Given the description of an element on the screen output the (x, y) to click on. 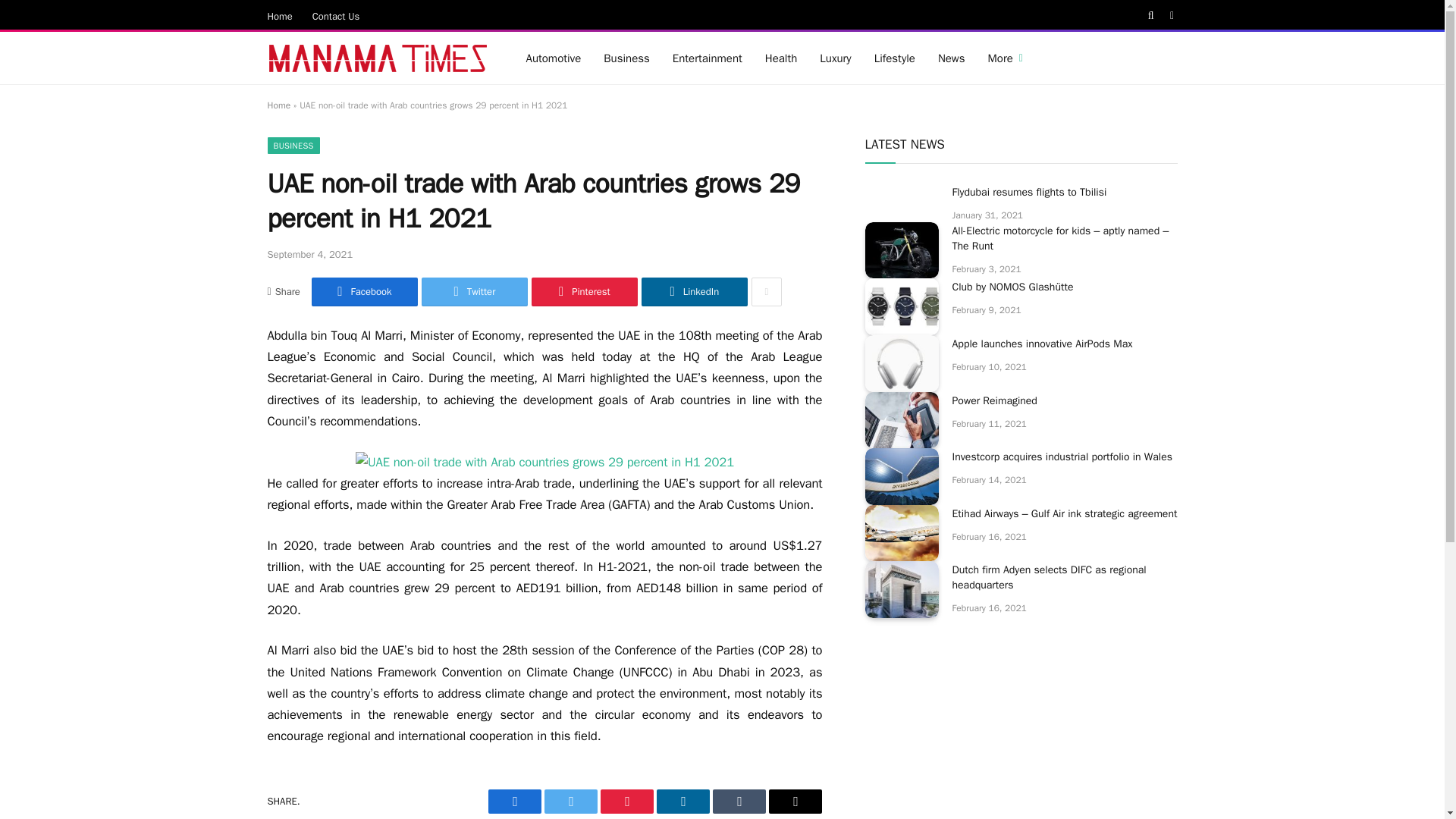
Pinterest (584, 291)
Luxury (834, 57)
More (1004, 57)
Twitter (474, 291)
Health (781, 57)
Home (279, 15)
Share on Facebook (364, 291)
Share on Pinterest (584, 291)
Manama Times (376, 57)
Facebook (364, 291)
News (951, 57)
BUSINESS (292, 145)
Switch to Dark Design - easier on eyes. (1170, 15)
LinkedIn (695, 291)
Share on LinkedIn (695, 291)
